Given the description of an element on the screen output the (x, y) to click on. 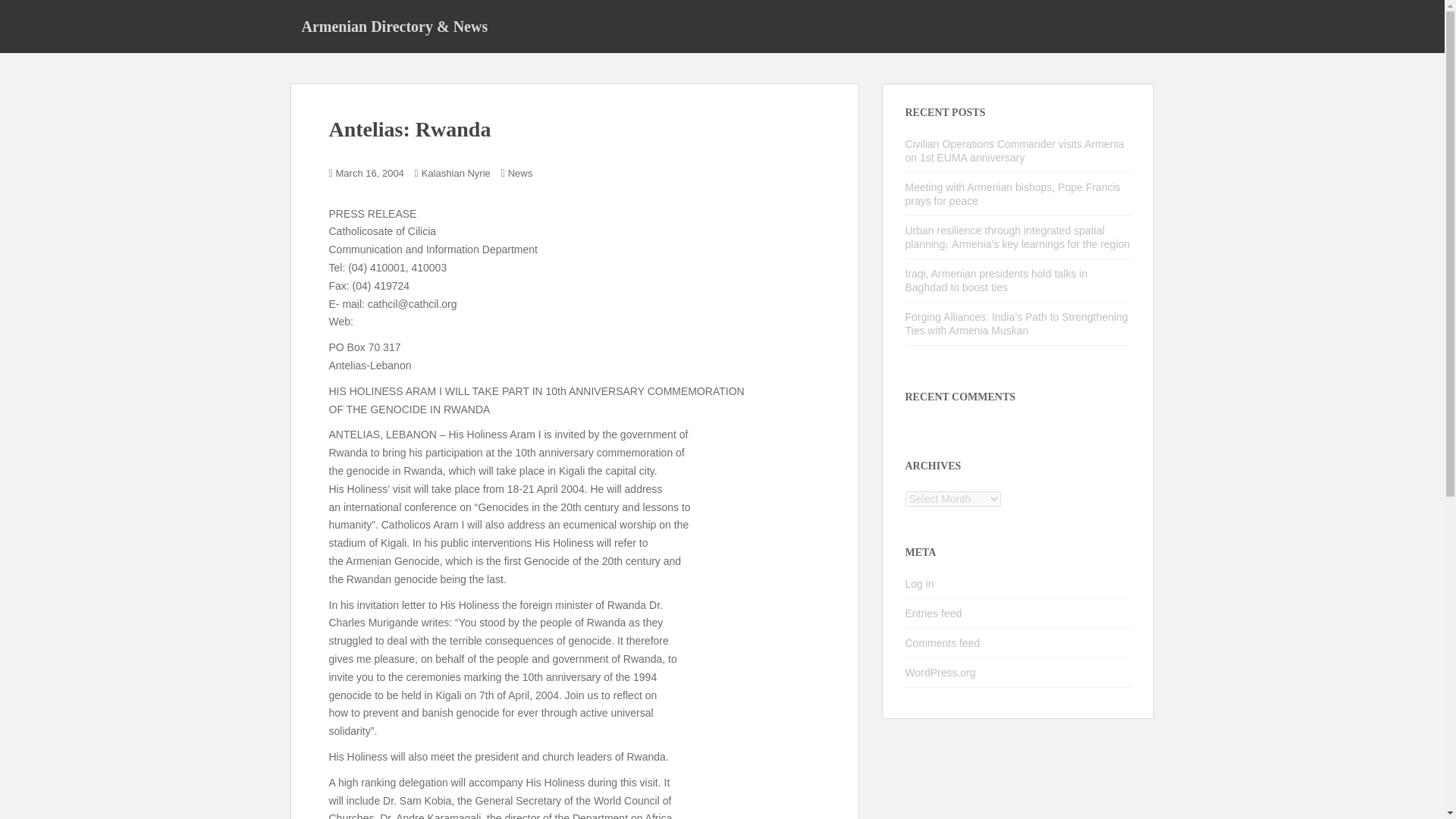
News (520, 173)
Log in (919, 583)
Entries feed (933, 613)
Comments feed (942, 643)
Kalashian Nyrie (456, 173)
Meeting with Armenian bishops, Pope Francis prays for peace (1013, 193)
WordPress.org (940, 672)
March 16, 2004 (370, 173)
